Given the description of an element on the screen output the (x, y) to click on. 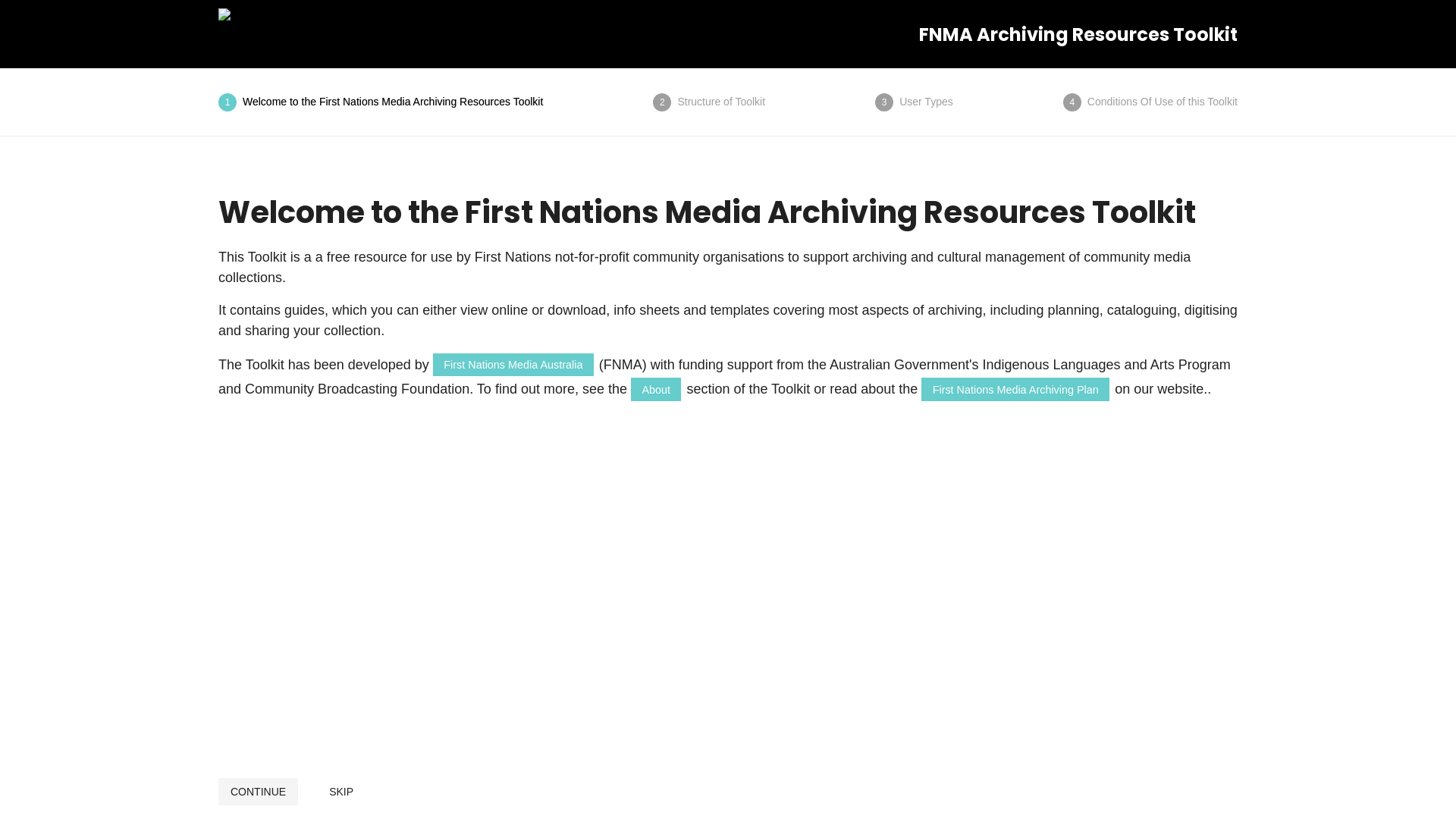
First Nations Media Archiving Plan Element type: text (1015, 388)
First Nations Media Australia Element type: text (513, 364)
CONTINUE Element type: text (258, 791)
About Element type: text (655, 388)
SKIP Element type: text (340, 791)
